Given the description of an element on the screen output the (x, y) to click on. 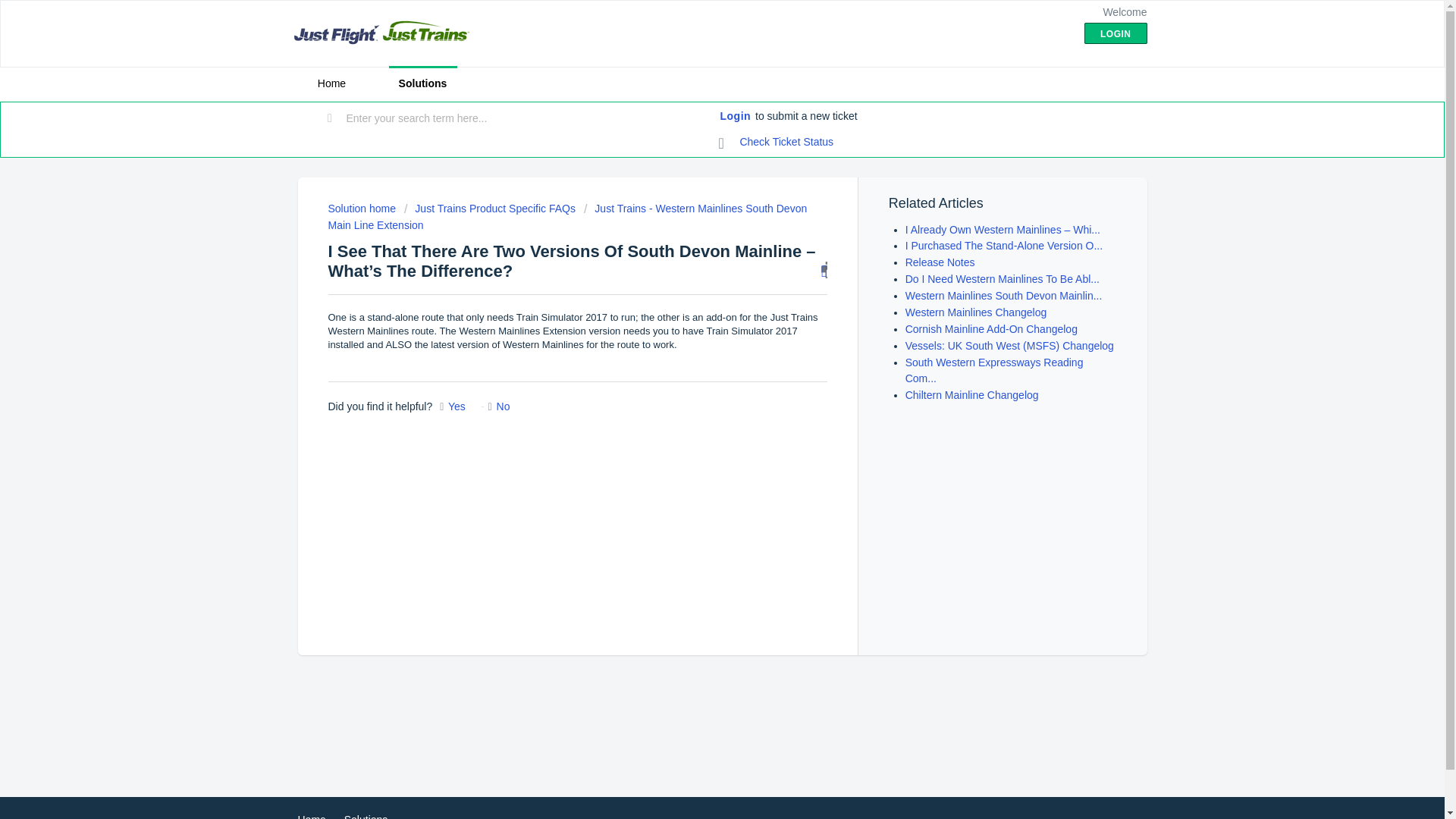
Home (310, 816)
South Western Expressways Reading Com... (994, 370)
Solutions (422, 83)
Check Ticket Status (776, 142)
Western Mainlines Changelog (975, 312)
Chiltern Mainline Changelog (972, 395)
Cornish Mainline Add-On Changelog (991, 328)
